Given the description of an element on the screen output the (x, y) to click on. 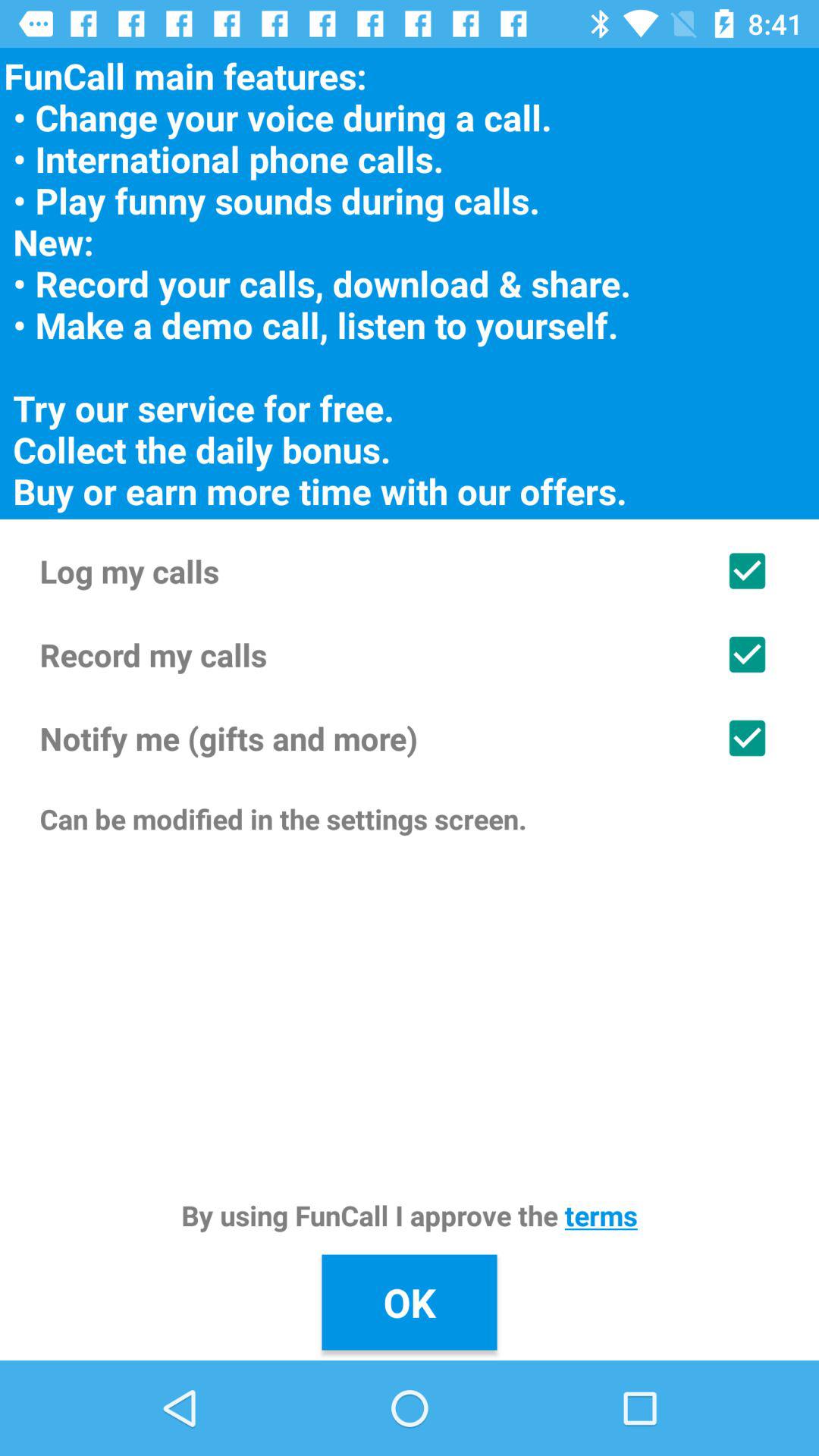
press ok item (409, 1302)
